Given the description of an element on the screen output the (x, y) to click on. 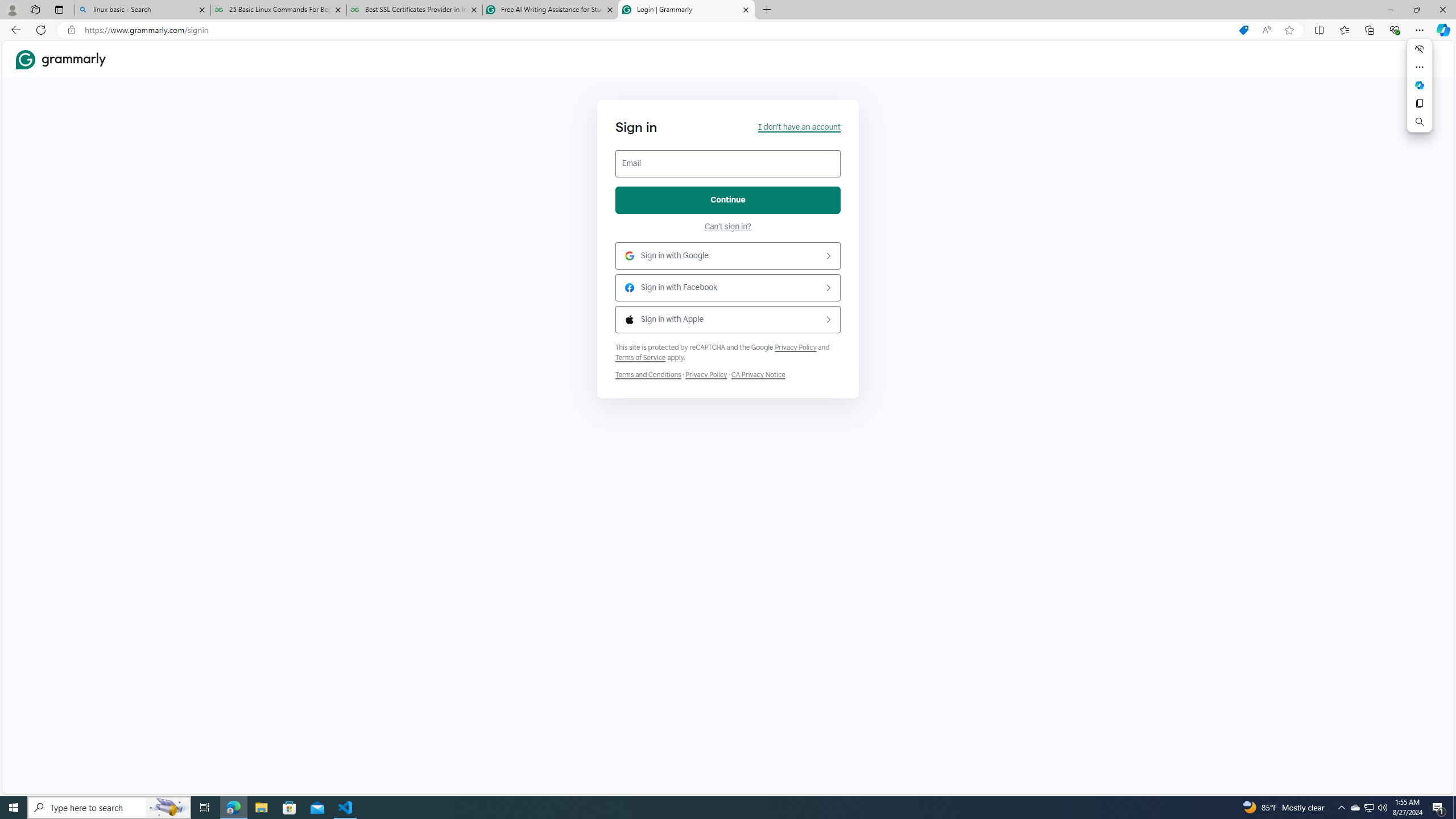
Google Terms of Service (640, 357)
Login | Grammarly (685, 9)
Grammarly Home (61, 58)
Email (727, 163)
Continue (727, 199)
Mini menu on text selection (1419, 91)
Sign in with Facebook (727, 287)
Sign in with Apple (727, 319)
Sign in with Facebook (727, 287)
Grammarly Terms and Conditions (648, 374)
